Given the description of an element on the screen output the (x, y) to click on. 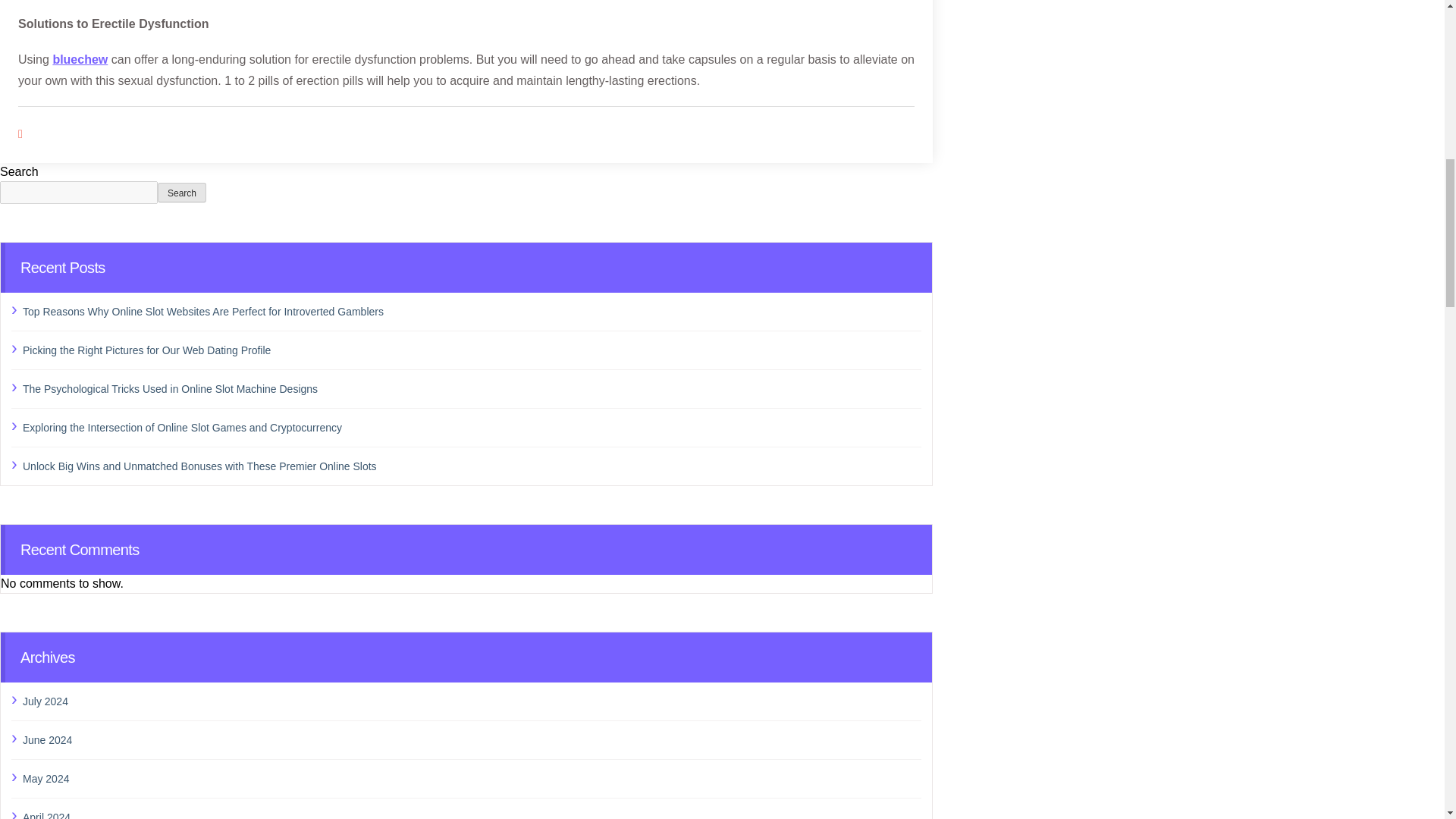
June 2024 (472, 740)
Picking the Right Pictures for Our Web Dating Profile (472, 350)
Search (181, 192)
The Psychological Tricks Used in Online Slot Machine Designs (472, 388)
July 2024 (472, 701)
April 2024 (472, 813)
May 2024 (472, 778)
bluechew (79, 59)
